Given the description of an element on the screen output the (x, y) to click on. 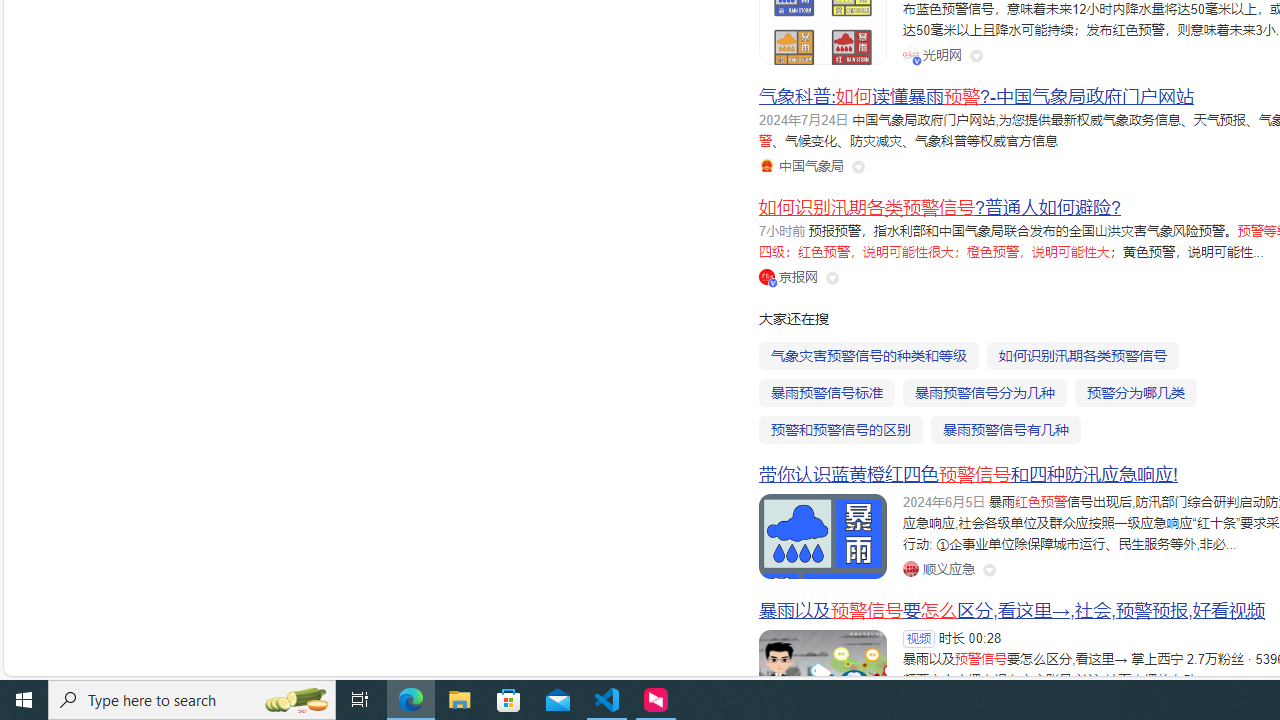
Class: siteLink_9TPP3 (938, 568)
Class: vip-icon_kNmNt (773, 282)
